Given the description of an element on the screen output the (x, y) to click on. 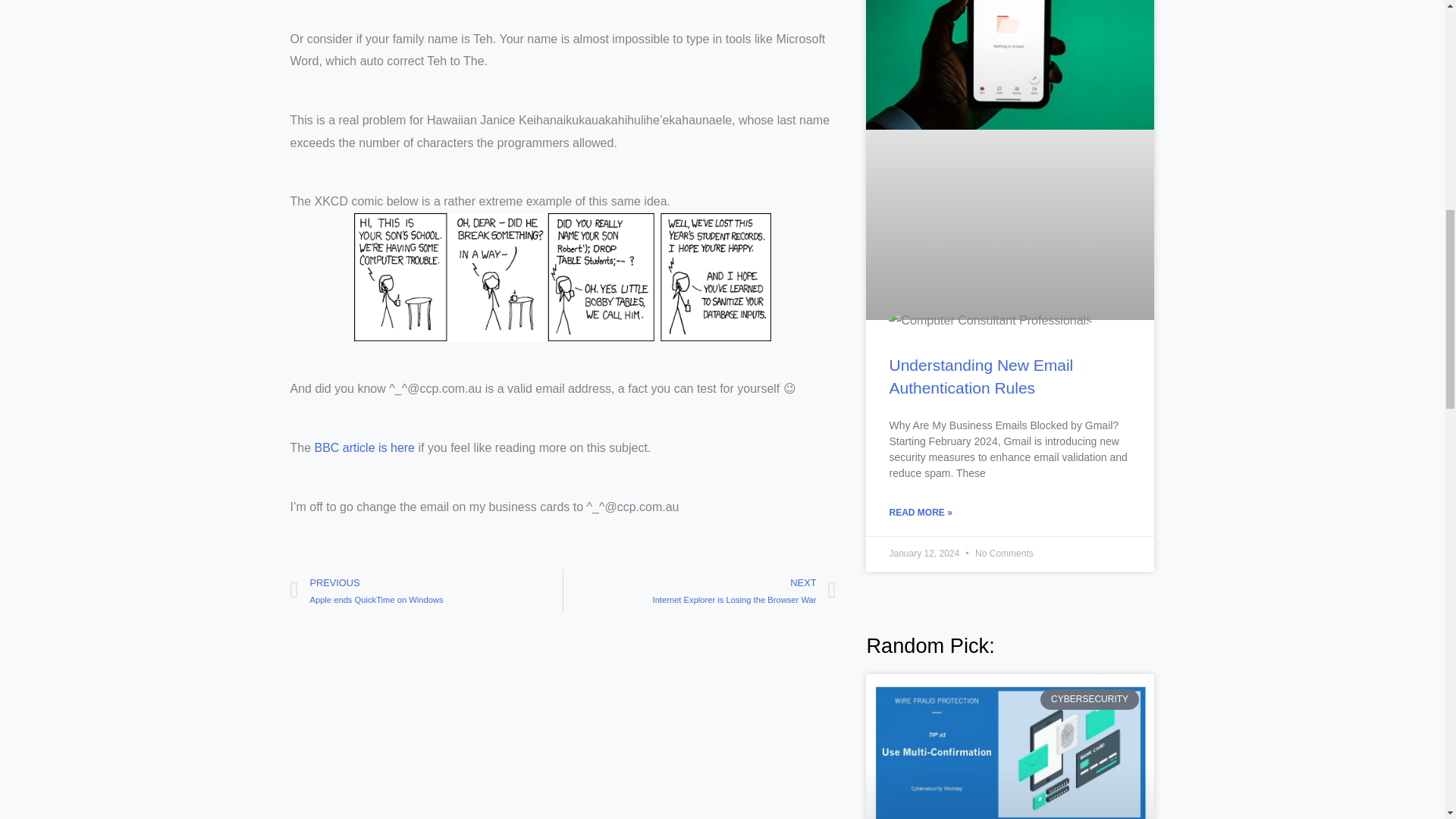
BBC article is here (425, 590)
Understanding New Email Authentication Rules (364, 447)
